Given the description of an element on the screen output the (x, y) to click on. 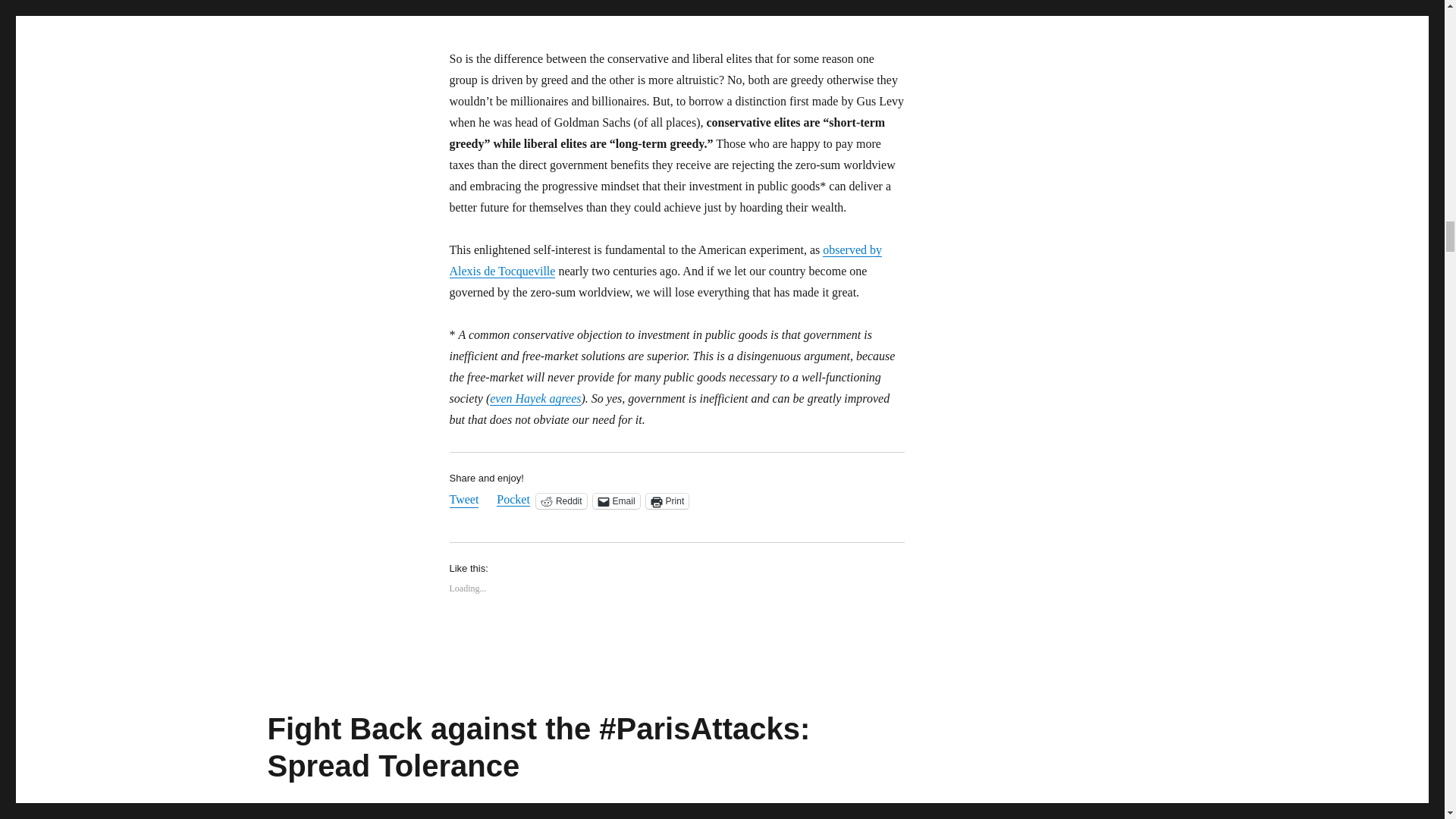
Click to print (667, 500)
Click to email a link to a friend (616, 500)
Click to share on Reddit (560, 500)
